Given the description of an element on the screen output the (x, y) to click on. 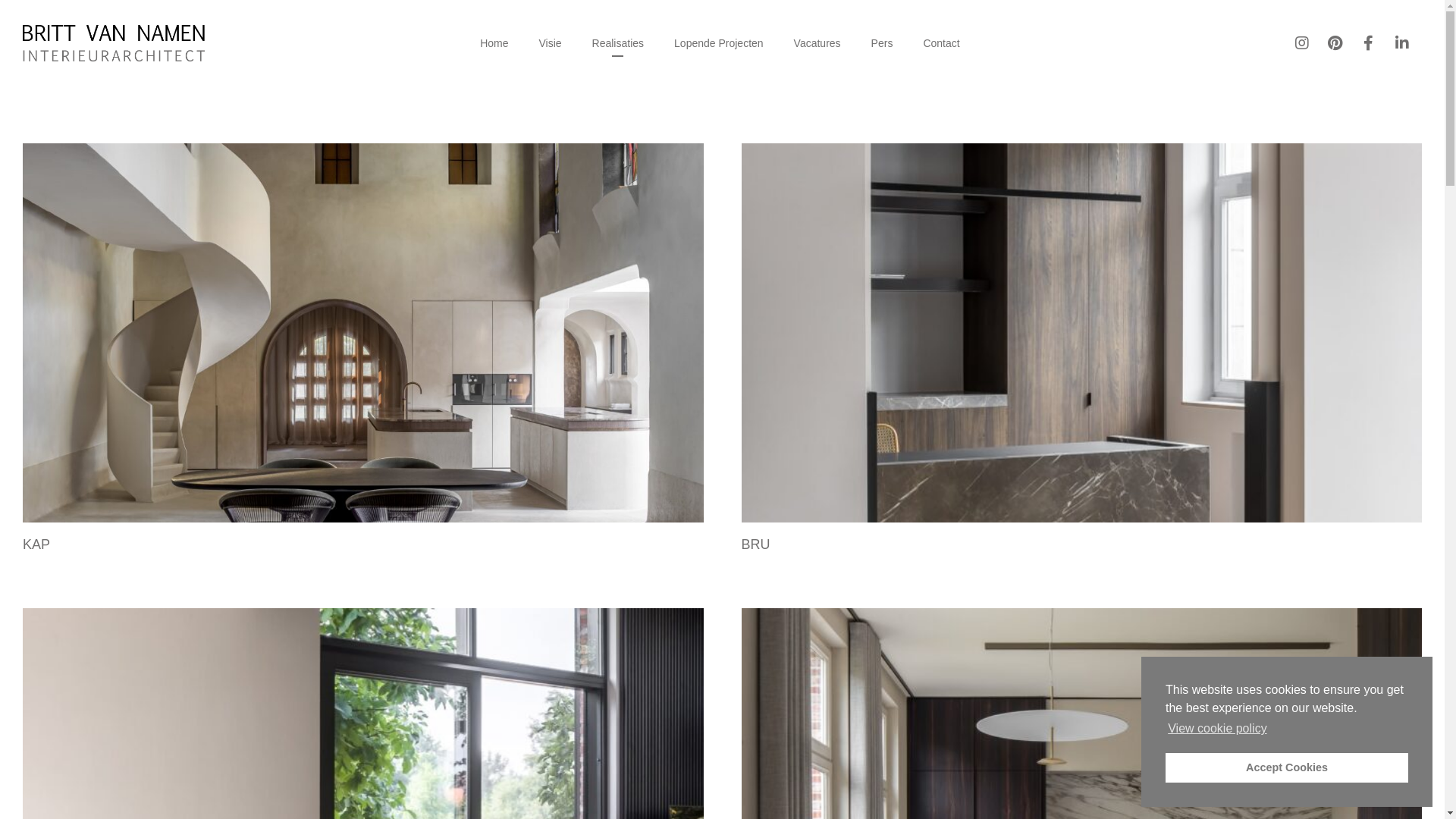
View cookie policy Element type: text (1217, 728)
Pers Element type: text (882, 42)
Accept Cookies Element type: text (1286, 767)
Home Element type: text (493, 42)
Visie Element type: text (549, 42)
Lopende Projecten Element type: text (718, 42)
Vacatures Element type: text (817, 42)
Contact Element type: text (940, 42)
Realisaties Element type: text (617, 42)
